Given the description of an element on the screen output the (x, y) to click on. 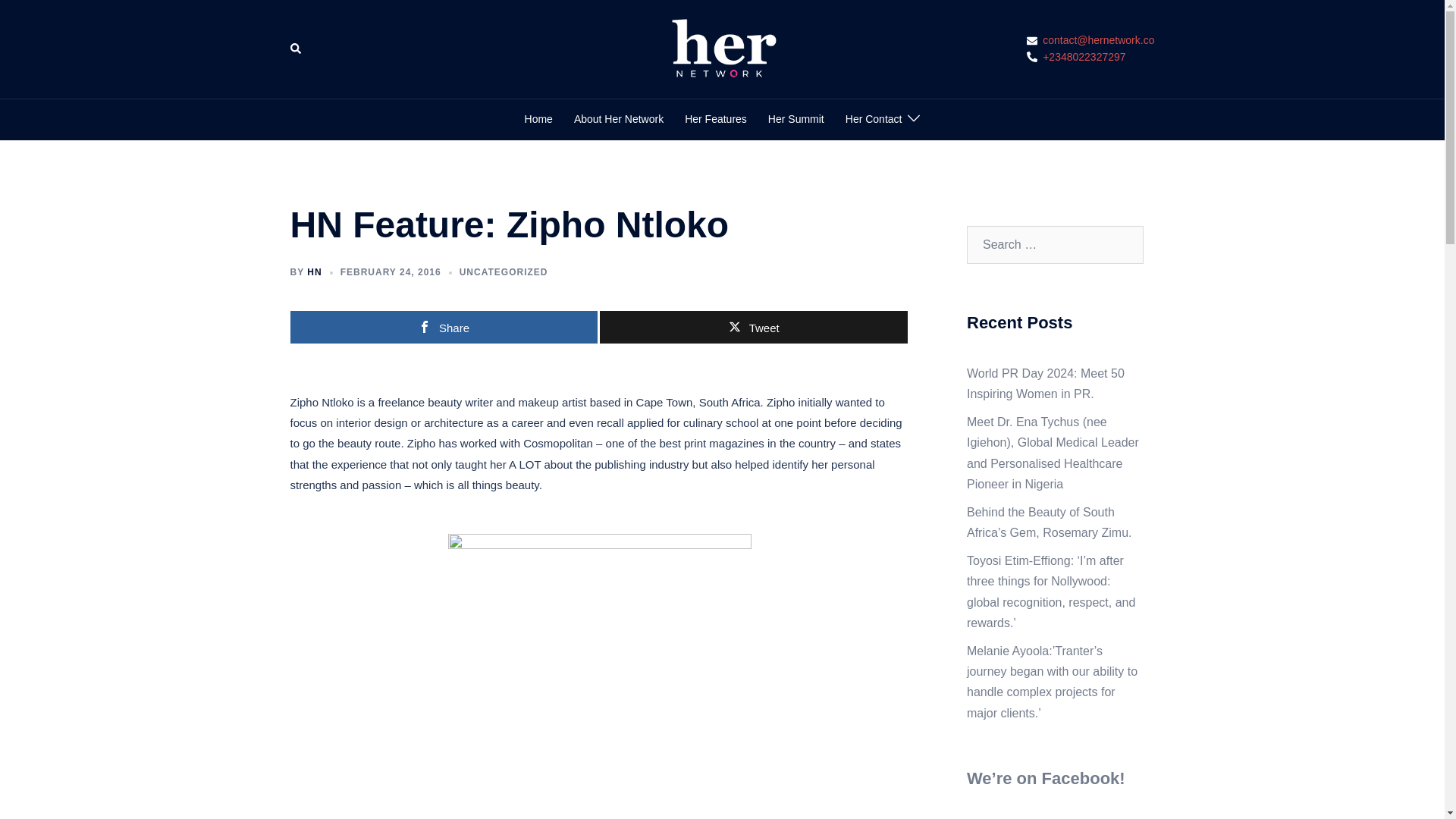
Home (538, 119)
Share (442, 327)
Search (295, 49)
Her Summit (796, 119)
HN (314, 271)
Her Features (715, 119)
UNCATEGORIZED (504, 271)
Tweet (753, 327)
FEBRUARY 24, 2016 (390, 271)
Her Network (721, 47)
Her Contact (873, 119)
About Her Network (618, 119)
